Given the description of an element on the screen output the (x, y) to click on. 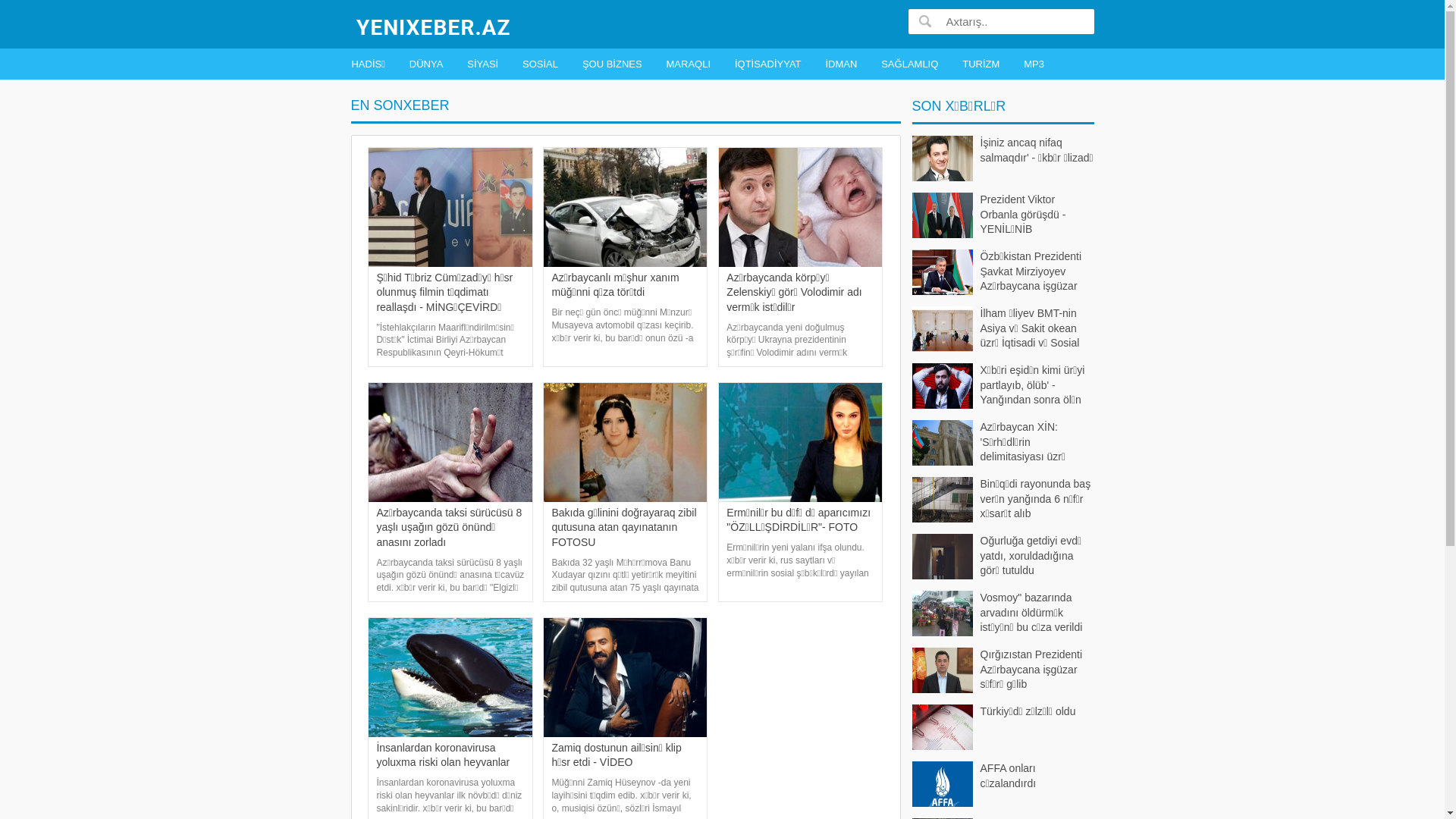
MARAQLI Element type: text (688, 63)
TURIZM Element type: text (980, 63)
MP3 Element type: text (1033, 63)
  Element type: text (925, 20)
SOSIAL Element type: text (539, 63)
SIYASI Element type: text (482, 63)
